Given the description of an element on the screen output the (x, y) to click on. 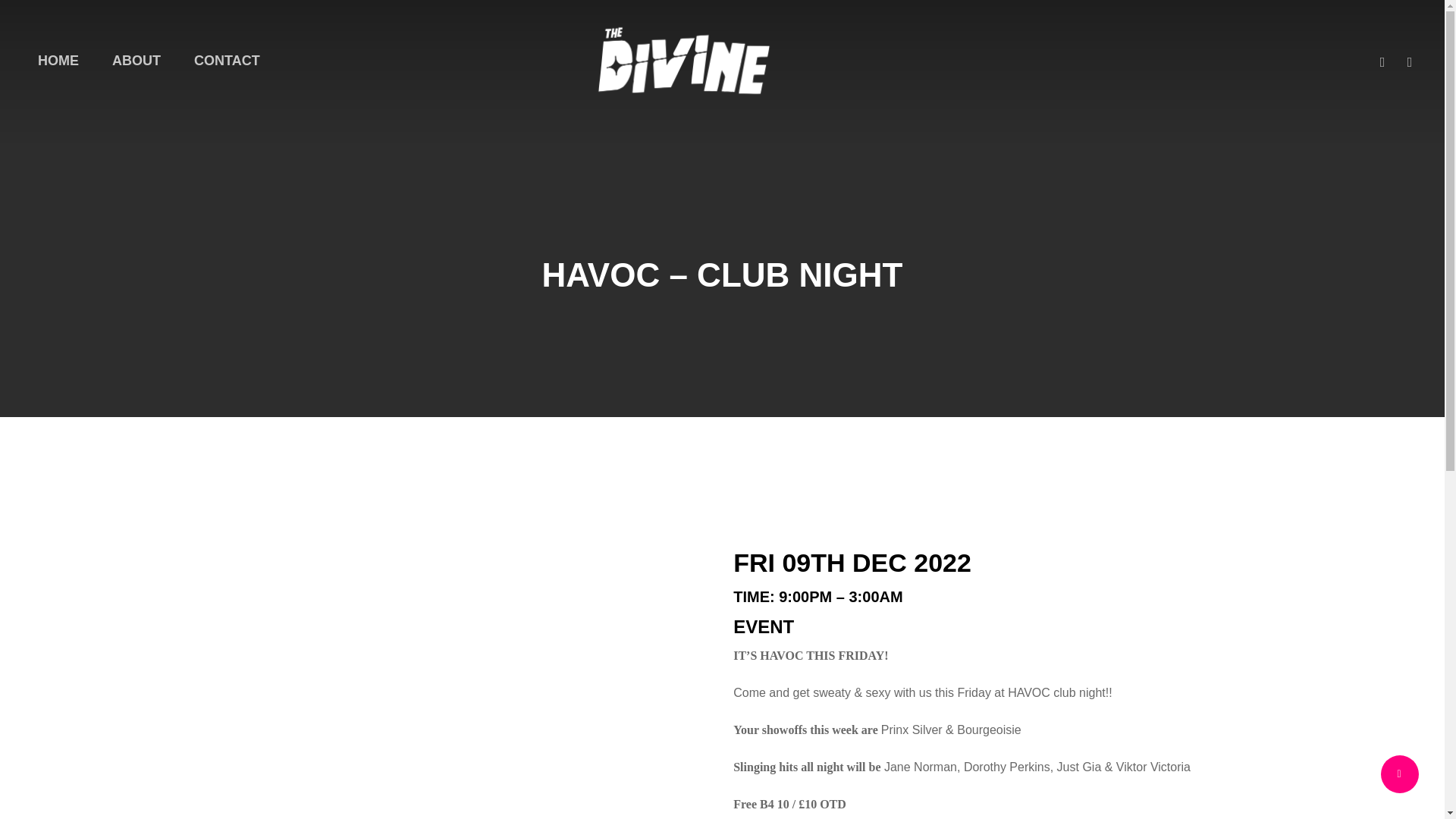
CONTACT (226, 60)
ABOUT (136, 60)
INSTAGRAM (1409, 59)
Menu (1415, 7)
FACEBOOK (1382, 59)
HOME (58, 60)
